Given the description of an element on the screen output the (x, y) to click on. 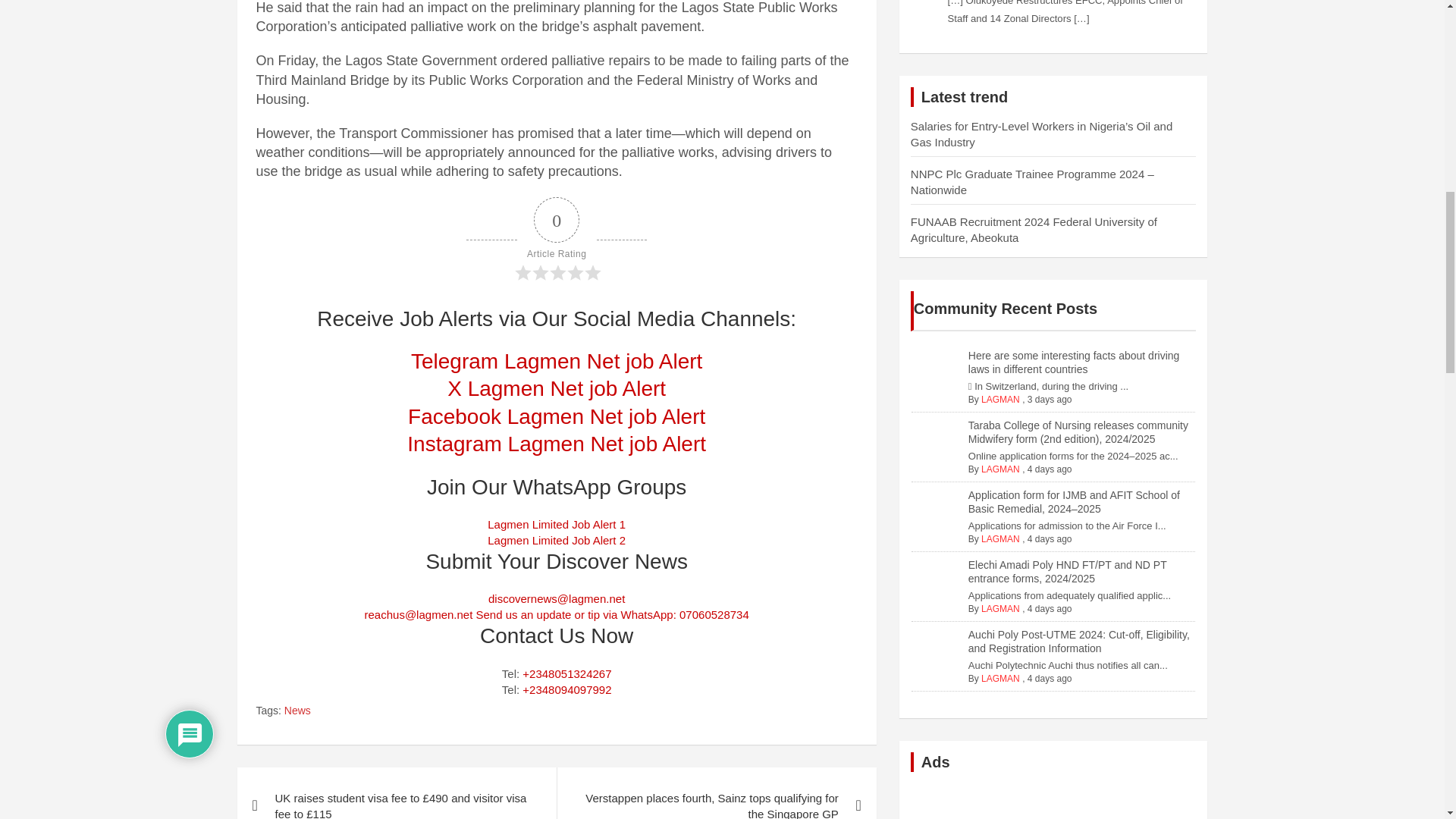
LAGMAN (973, 416)
LAGMAN (973, 698)
LAGMAN (973, 566)
